Given the description of an element on the screen output the (x, y) to click on. 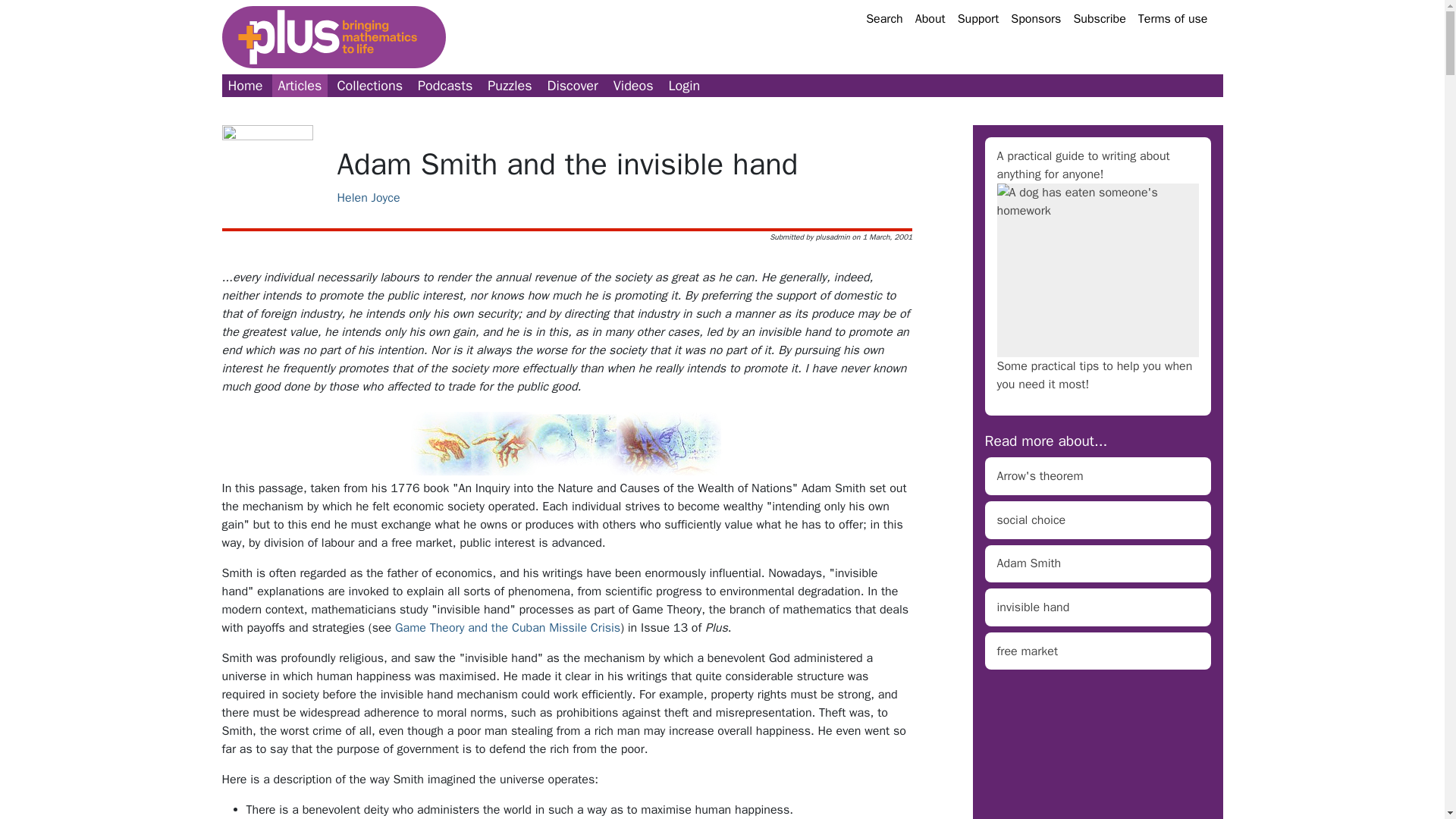
Terms of use (1173, 18)
Podcasts (445, 85)
Book film and other reviews (572, 85)
Puzzles (509, 85)
Discover (572, 85)
About (930, 18)
Articles (300, 85)
Helen Joyce (566, 198)
Support (979, 18)
Sponsors (1035, 18)
Game Theory and the Cuban Missile Crisis (507, 627)
Collections (369, 85)
Videos (633, 85)
Login (684, 85)
Search (884, 18)
